Given the description of an element on the screen output the (x, y) to click on. 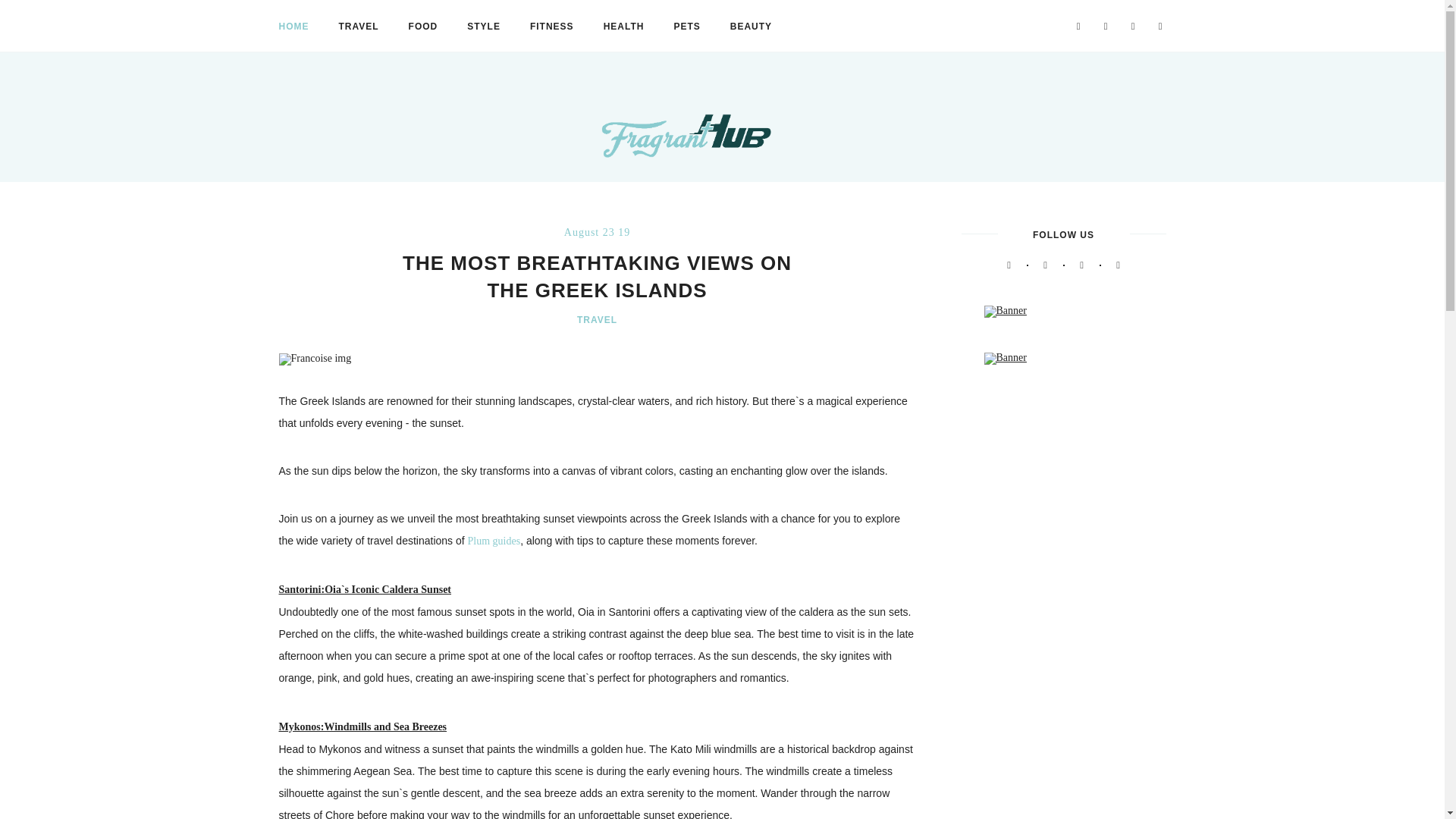
HEALTH (624, 26)
TRAVEL (596, 319)
FOOD (423, 26)
BEAUTY (750, 26)
Mykonos:Windmills and Sea Breezes (362, 726)
Plum guides (494, 541)
FITNESS (551, 26)
TRAVEL (357, 26)
PETS (686, 26)
HOME (293, 26)
